Given the description of an element on the screen output the (x, y) to click on. 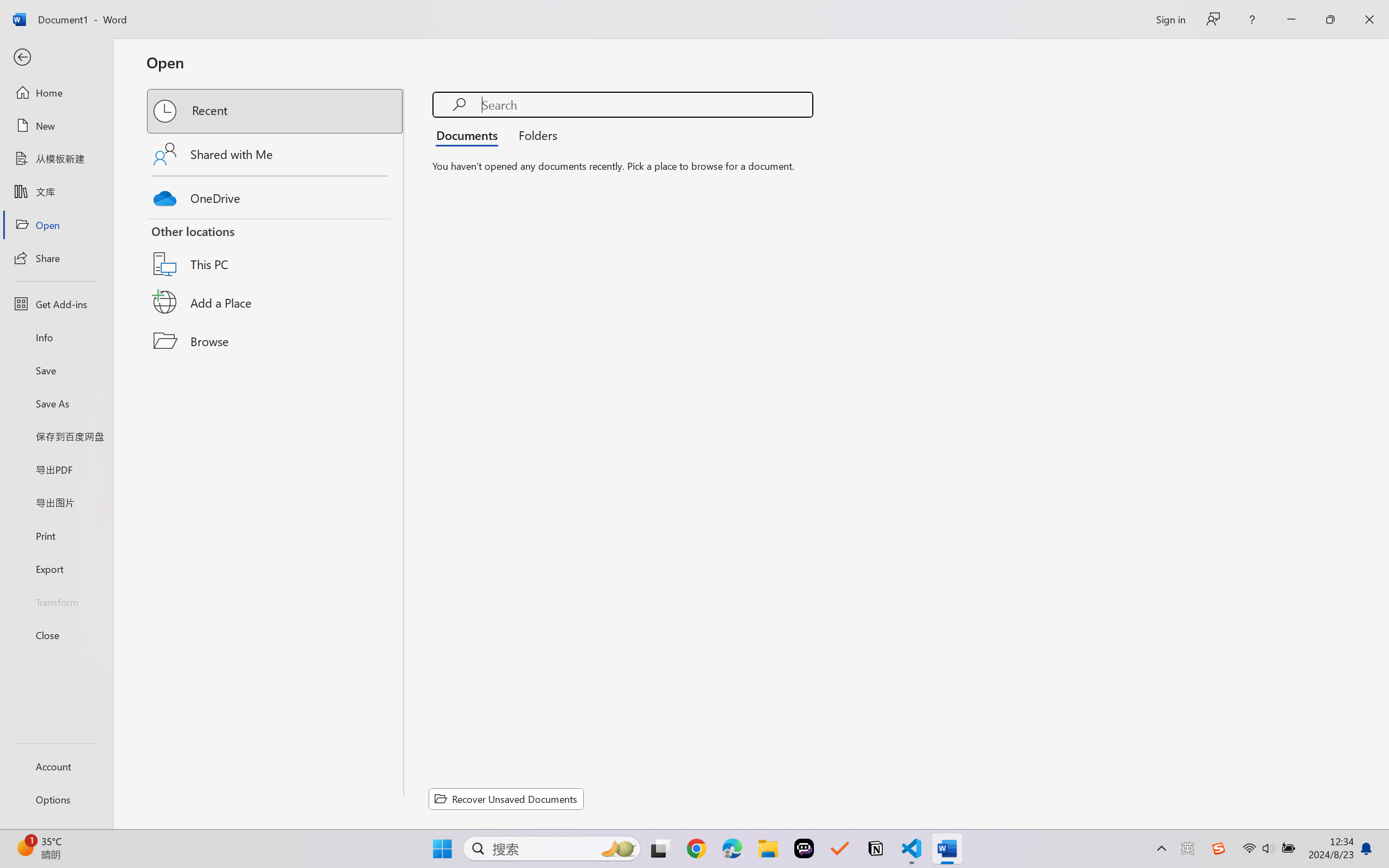
Export (56, 568)
OneDrive (275, 195)
Get Add-ins (56, 303)
Recover Unsaved Documents (506, 798)
Back (56, 57)
Info (56, 337)
Add a Place (275, 302)
Documents (469, 134)
This PC (275, 249)
